Given the description of an element on the screen output the (x, y) to click on. 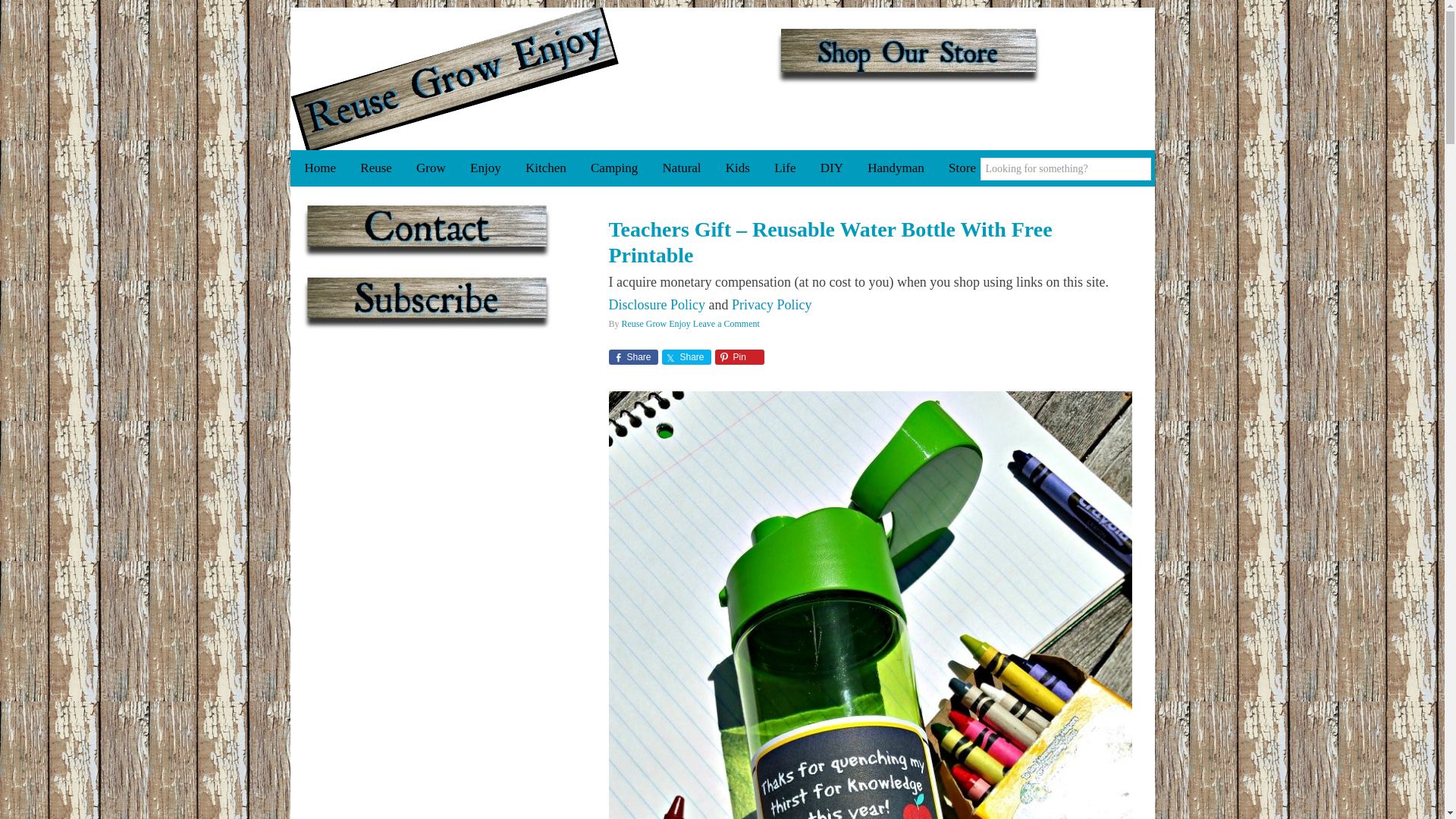
Kitchen (545, 167)
Disclosure Policy (656, 304)
Reuse Grow Enjoy (655, 323)
Privacy Policy (772, 304)
Home (320, 167)
Kids (737, 167)
Leave a Comment (726, 323)
Enjoy (486, 167)
Life (784, 167)
Camping (613, 167)
Store (962, 167)
Share (685, 356)
Share (633, 356)
Reuse (376, 167)
Handyman (895, 167)
